Given the description of an element on the screen output the (x, y) to click on. 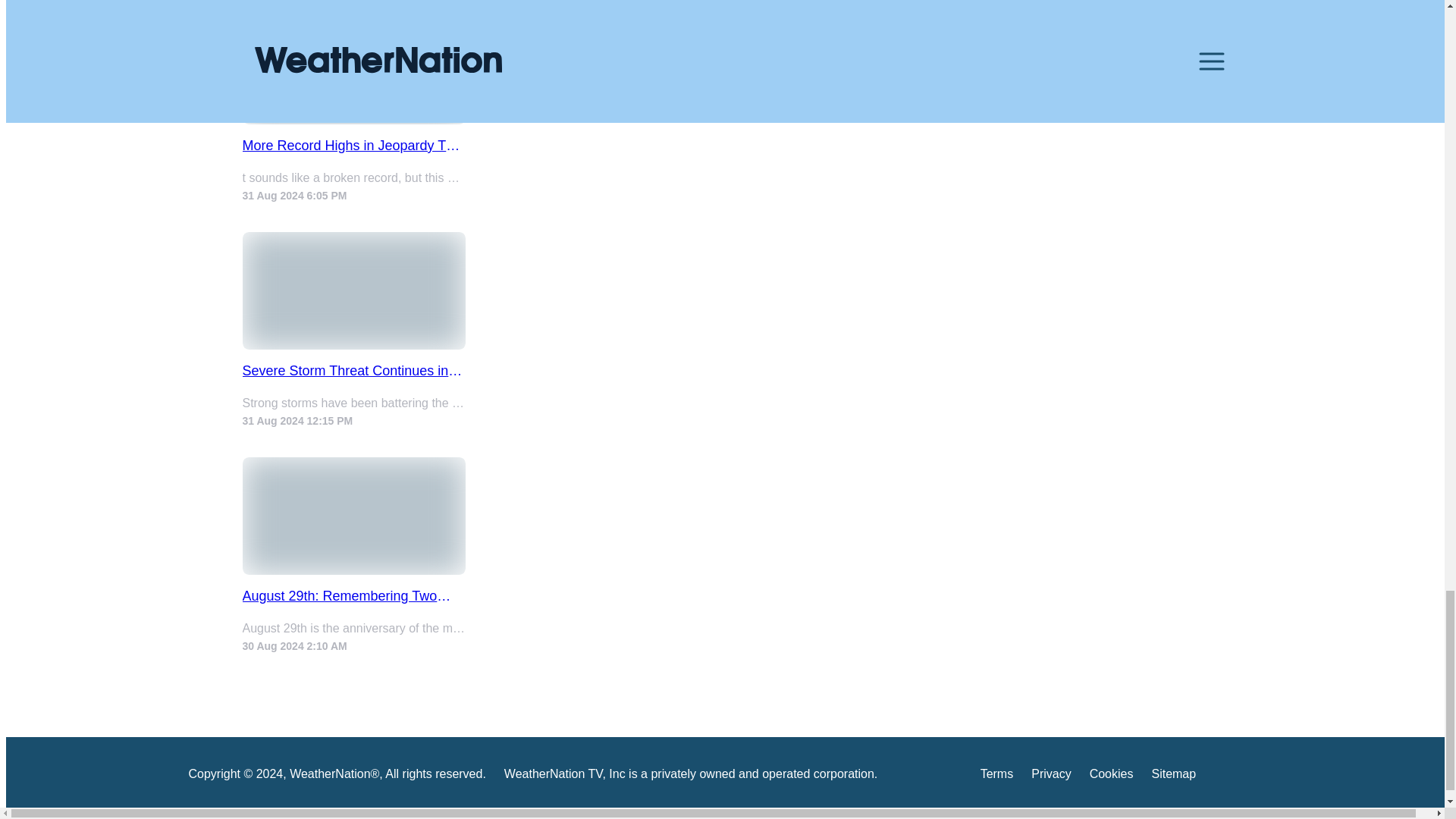
Terms (996, 776)
Sitemap (1173, 776)
More Record Highs in Jeopardy This Week (354, 145)
Privacy (1050, 776)
Cookies (1111, 776)
Severe Storm Threat Continues in the Midwest (354, 371)
